Given the description of an element on the screen output the (x, y) to click on. 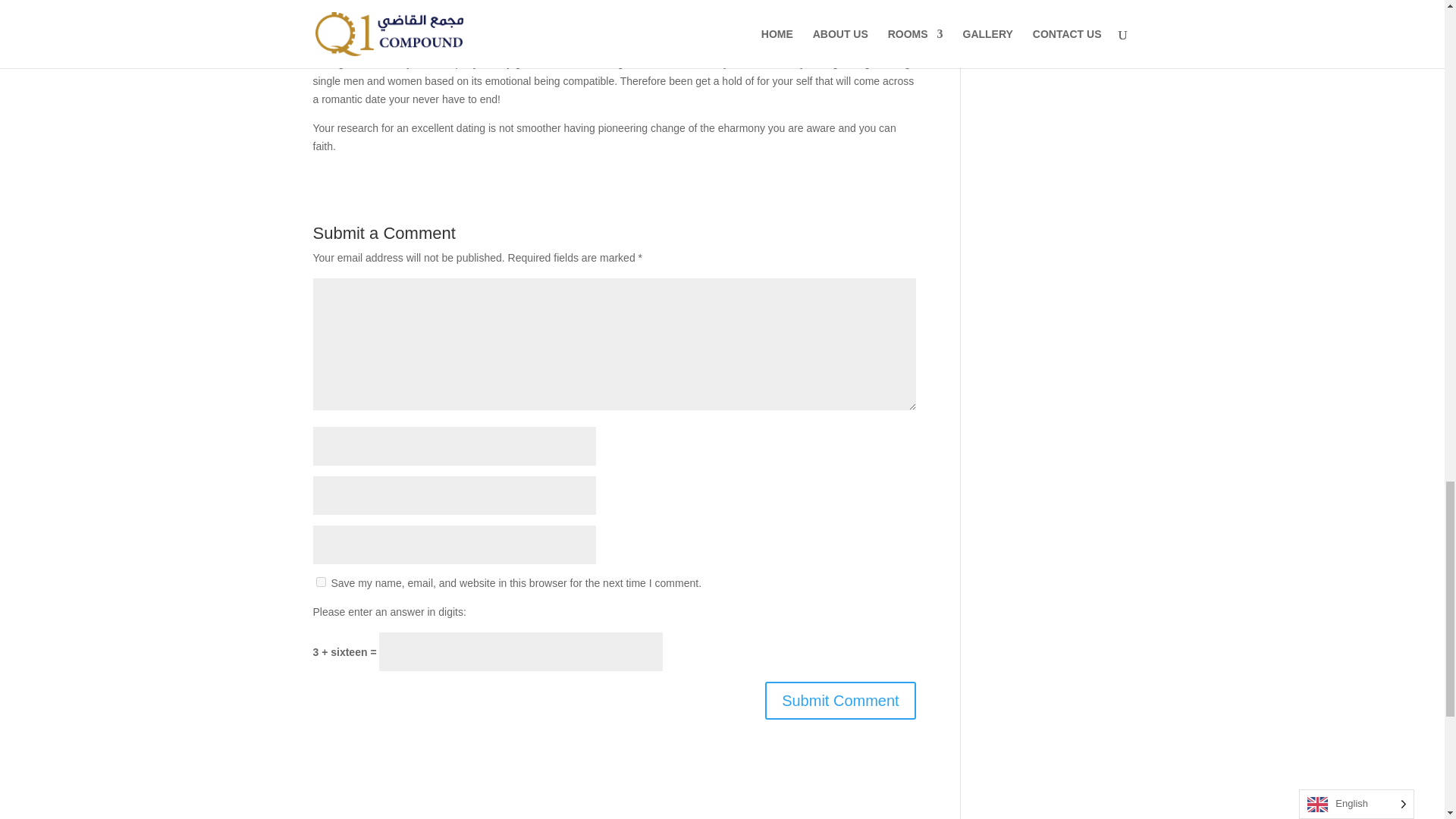
Submit Comment (840, 700)
Submit Comment (840, 700)
yes (319, 582)
